Given the description of an element on the screen output the (x, y) to click on. 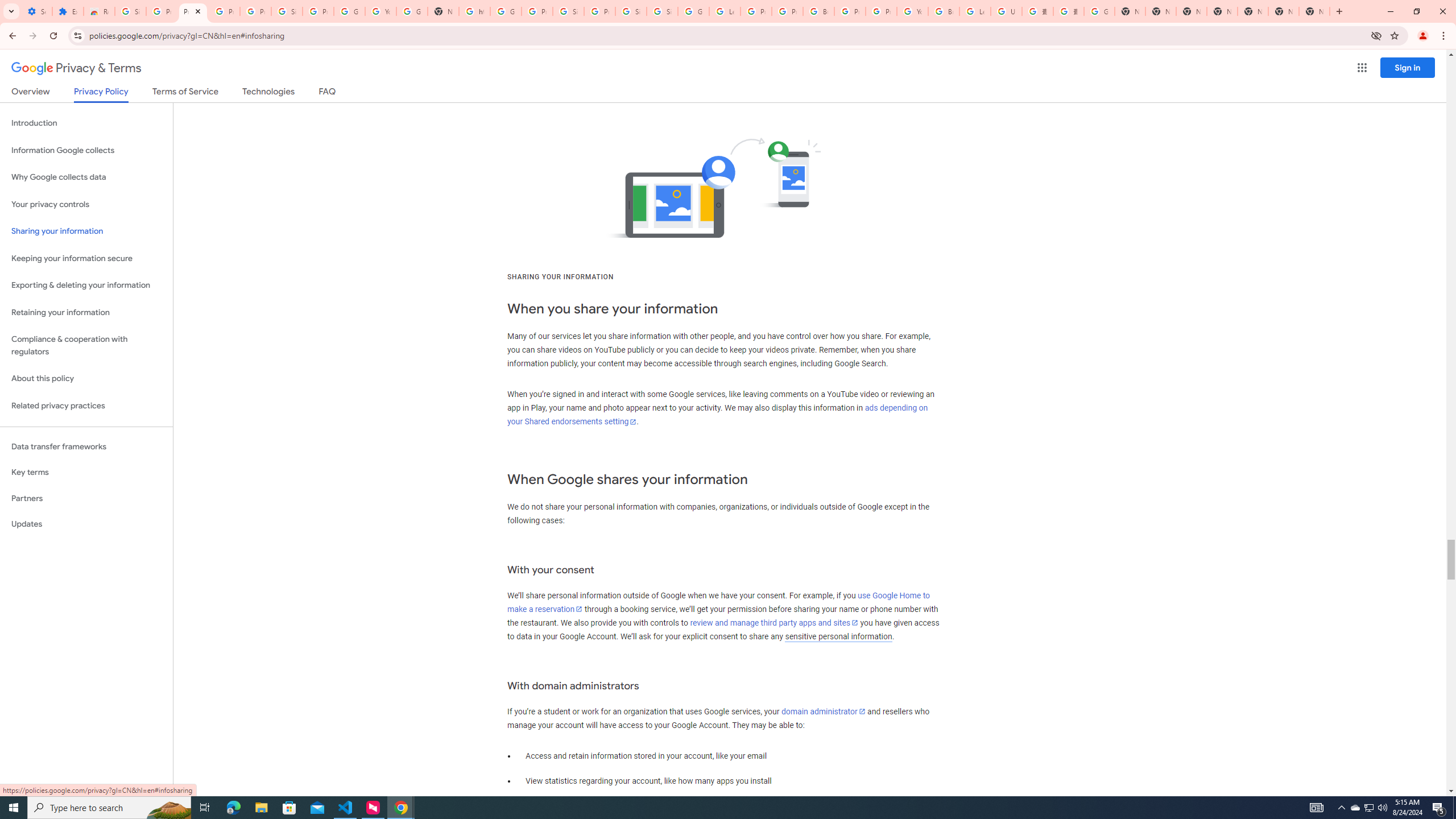
review and manage third party apps and sites (774, 622)
Related privacy practices (86, 405)
Settings - On startup (36, 11)
Reviews: Helix Fruit Jump Arcade Game (98, 11)
